Given the description of an element on the screen output the (x, y) to click on. 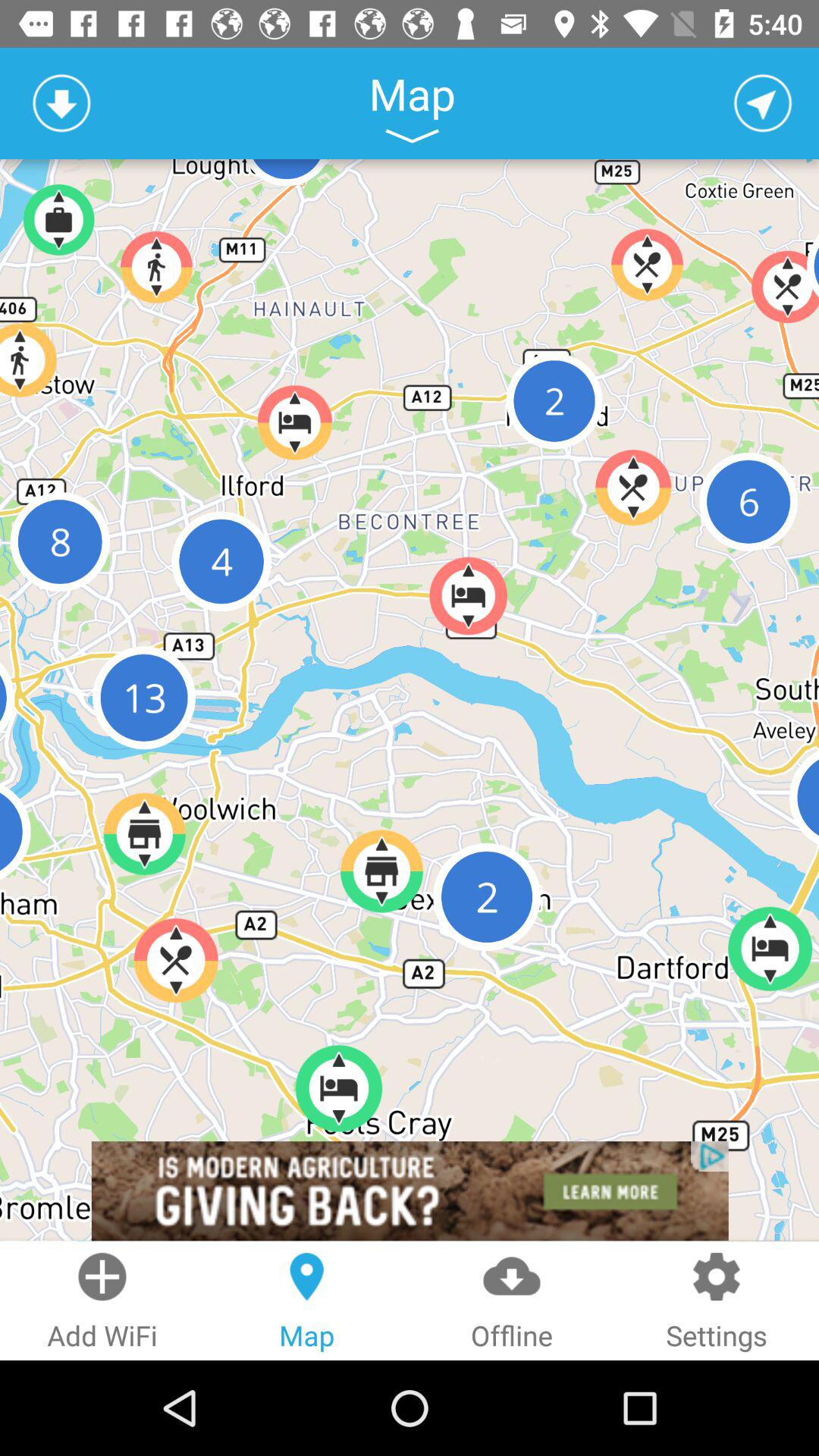
click to more option (412, 136)
